Given the description of an element on the screen output the (x, y) to click on. 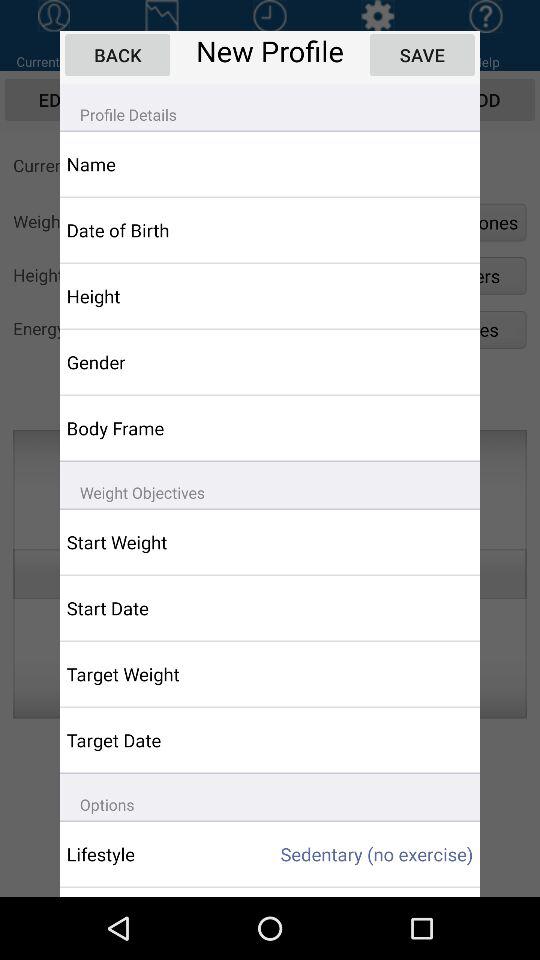
choose start weight item (156, 541)
